Given the description of an element on the screen output the (x, y) to click on. 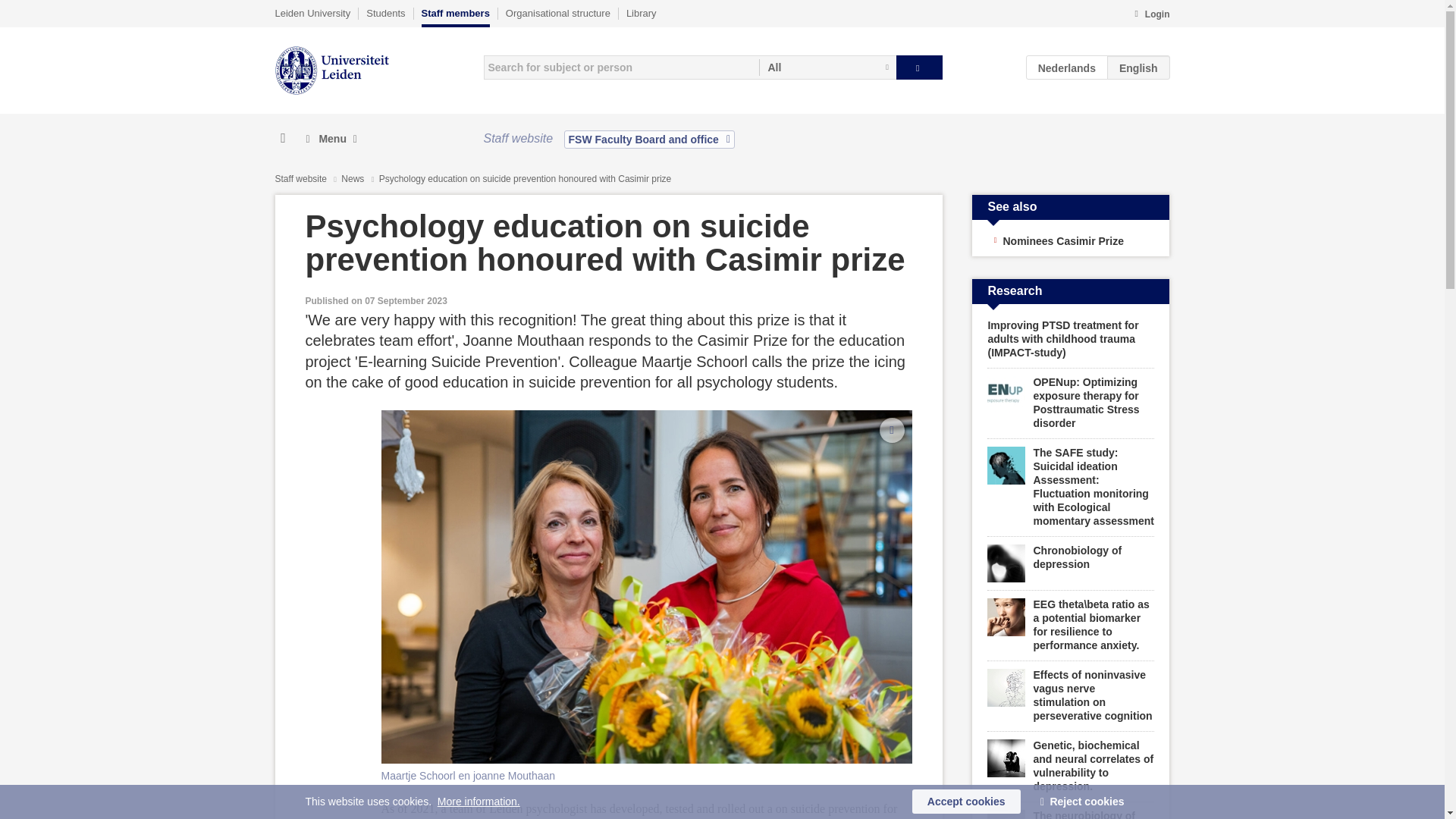
Organisational structure (557, 13)
FSW Faculty Board and office (649, 139)
Search (919, 67)
Menu (330, 139)
Leiden University (312, 13)
NL (1067, 67)
Login (1151, 14)
All (827, 67)
Library (641, 13)
Staff members (455, 17)
Students (385, 13)
